Given the description of an element on the screen output the (x, y) to click on. 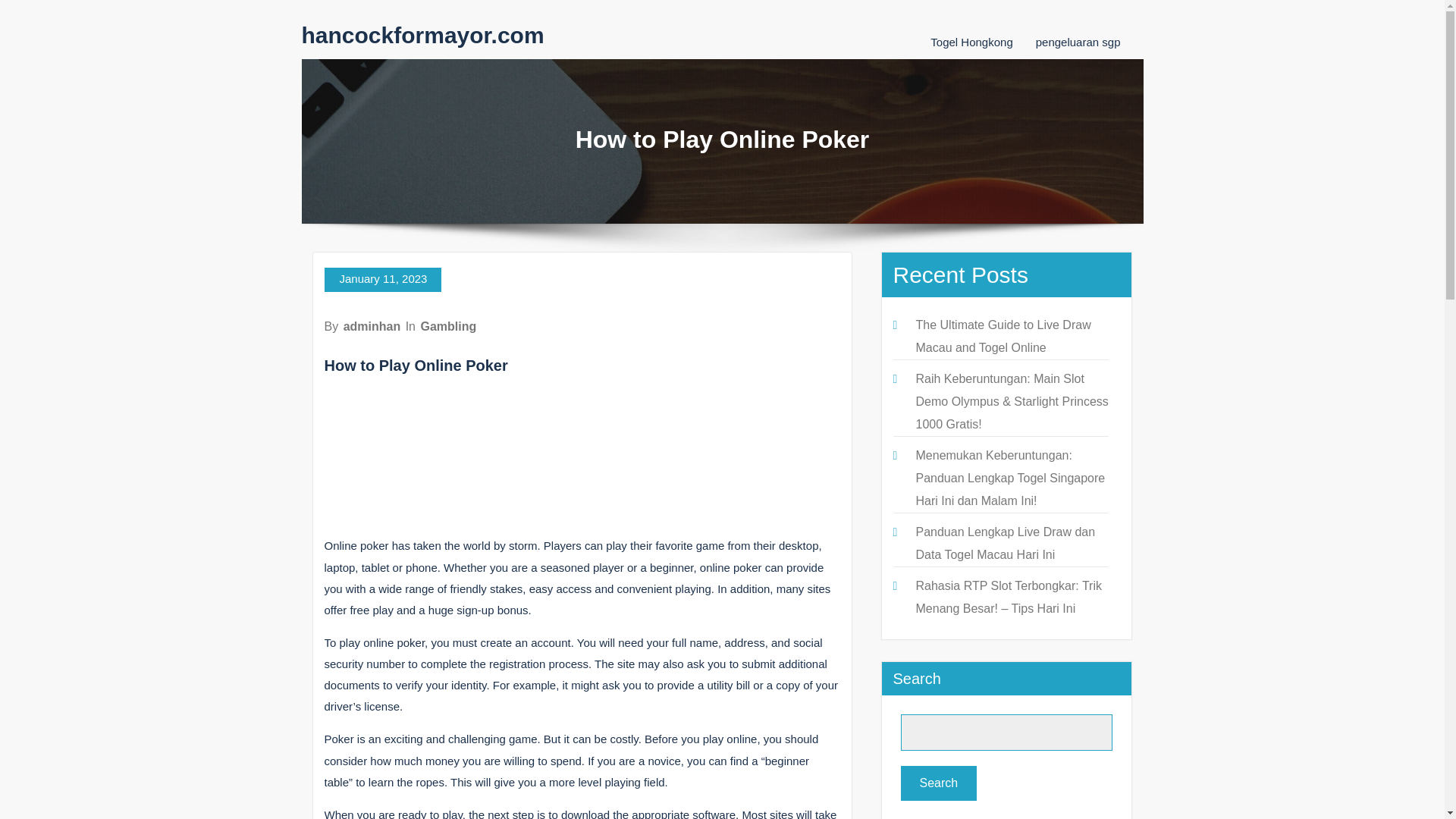
Panduan Lengkap Live Draw dan Data Togel Macau Hari Ini (1005, 543)
January 11, 2023 (383, 279)
Search (938, 782)
The Ultimate Guide to Live Draw Macau and Togel Online (1002, 335)
adminhan (372, 326)
pengeluaran sgp (1078, 41)
hancockformayor.com (422, 34)
Gambling (448, 326)
Togel Hongkong (970, 41)
